Given the description of an element on the screen output the (x, y) to click on. 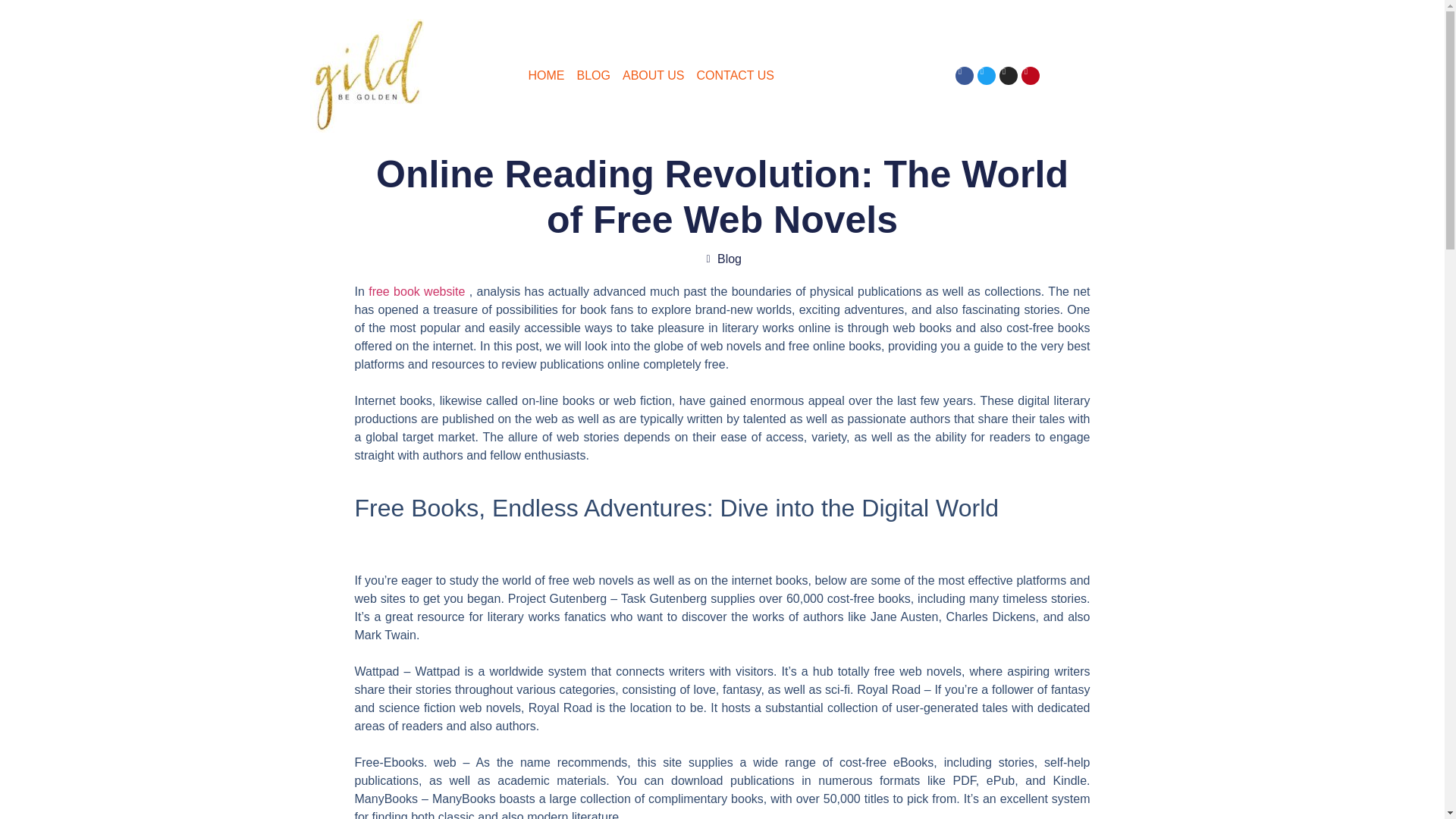
ABOUT US (653, 75)
CONTACT US (734, 75)
Blog (729, 258)
HOME (546, 75)
free book website (416, 291)
BLOG (593, 75)
